Given the description of an element on the screen output the (x, y) to click on. 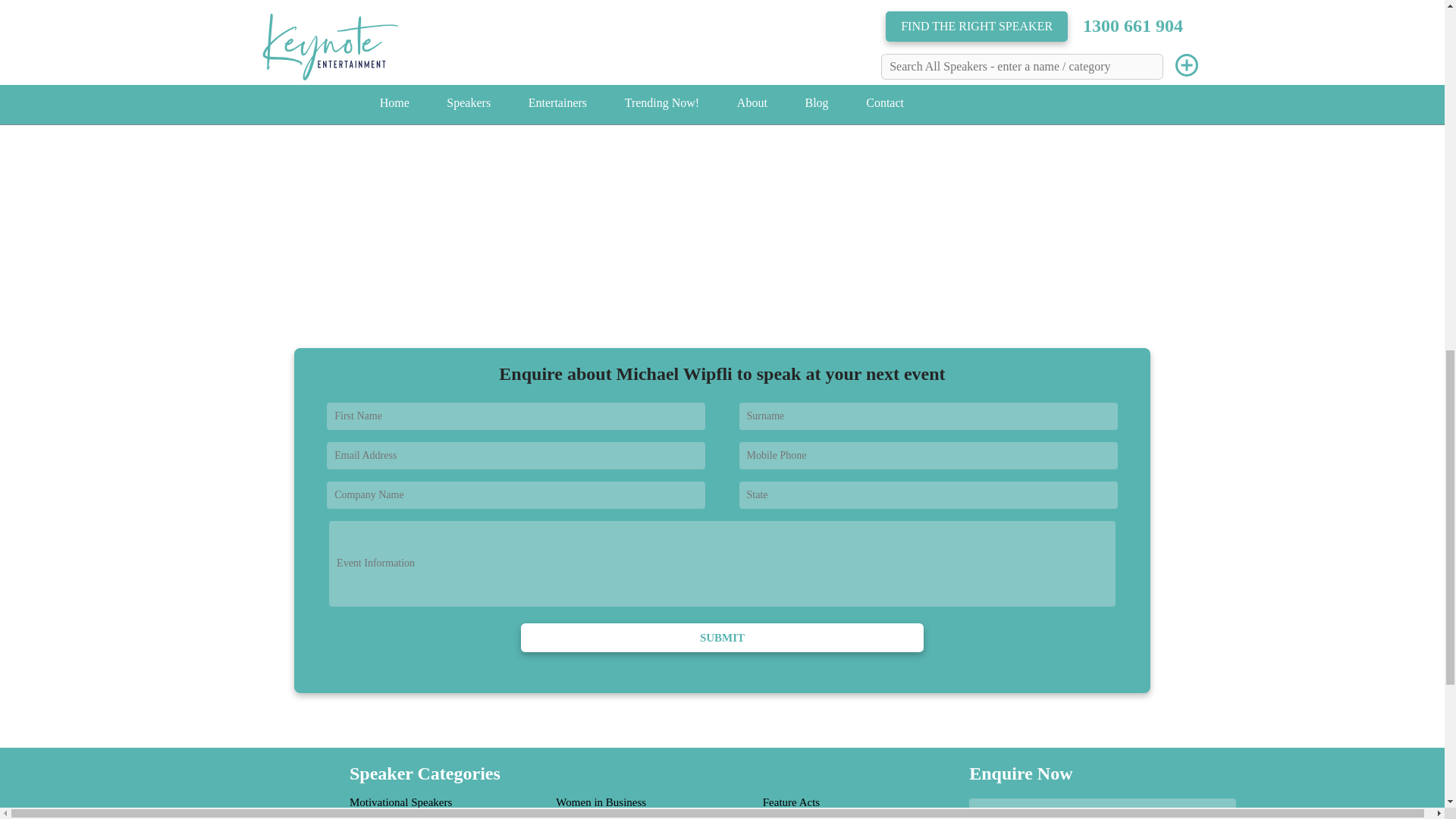
SUBMIT (722, 637)
SUBMIT (722, 637)
Feature Acts (790, 801)
Women in Business (601, 801)
Motivational Speakers (400, 801)
SUBMIT (722, 637)
Business Coaching (599, 817)
Business Speakers (391, 817)
After Dinner Entertainers (820, 817)
